Given the description of an element on the screen output the (x, y) to click on. 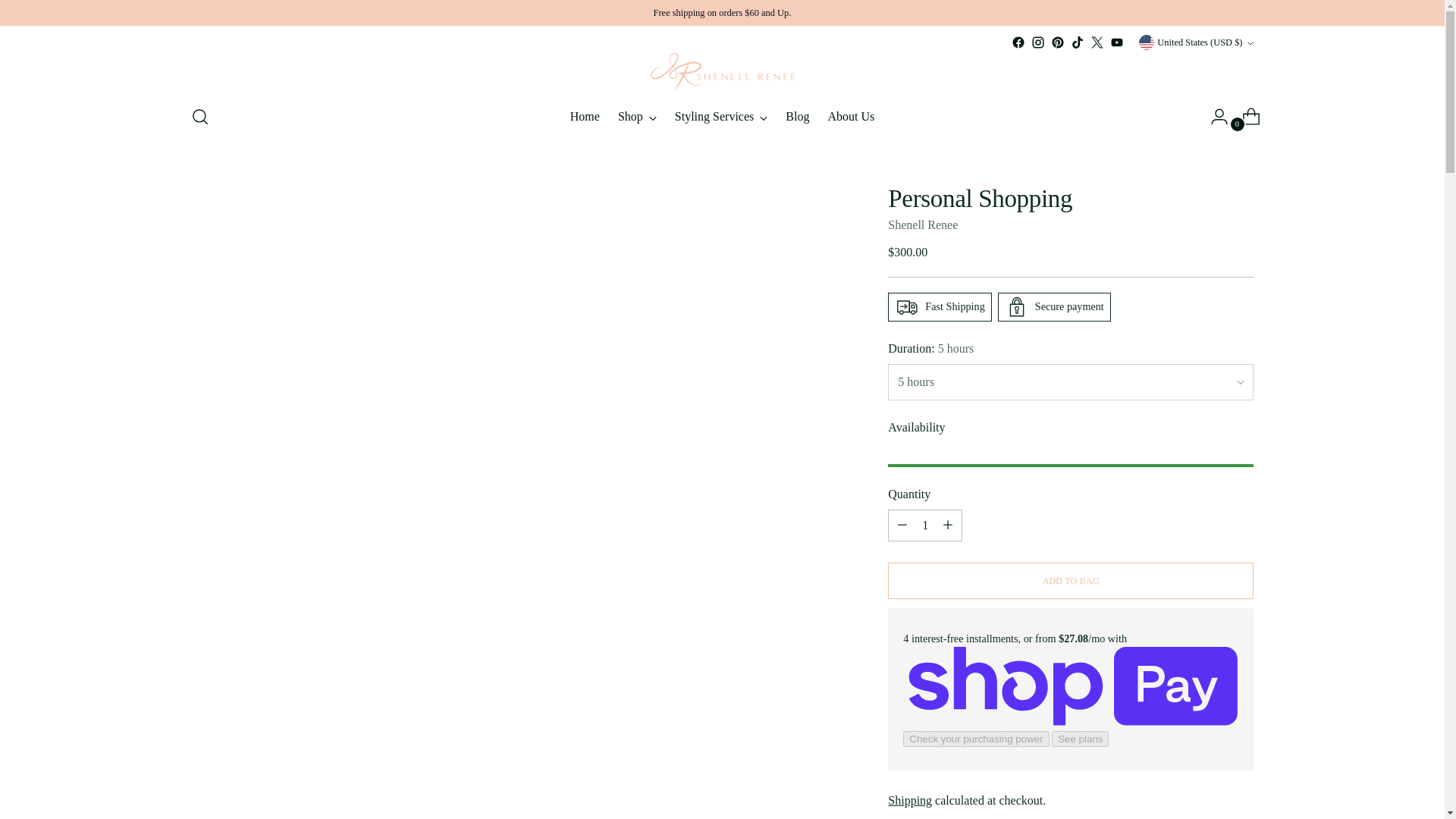
Shenell Renee on Instagram (1037, 42)
Shenell Renee on Facebook (1018, 42)
Shenell Renee on Tiktok (722, 116)
Shenell Renee on Twitter (1077, 42)
Shenell Renee (1096, 42)
1 (923, 224)
Shenell Renee on Pinterest (925, 525)
Shenell Renee on YouTube (1057, 42)
